Given the description of an element on the screen output the (x, y) to click on. 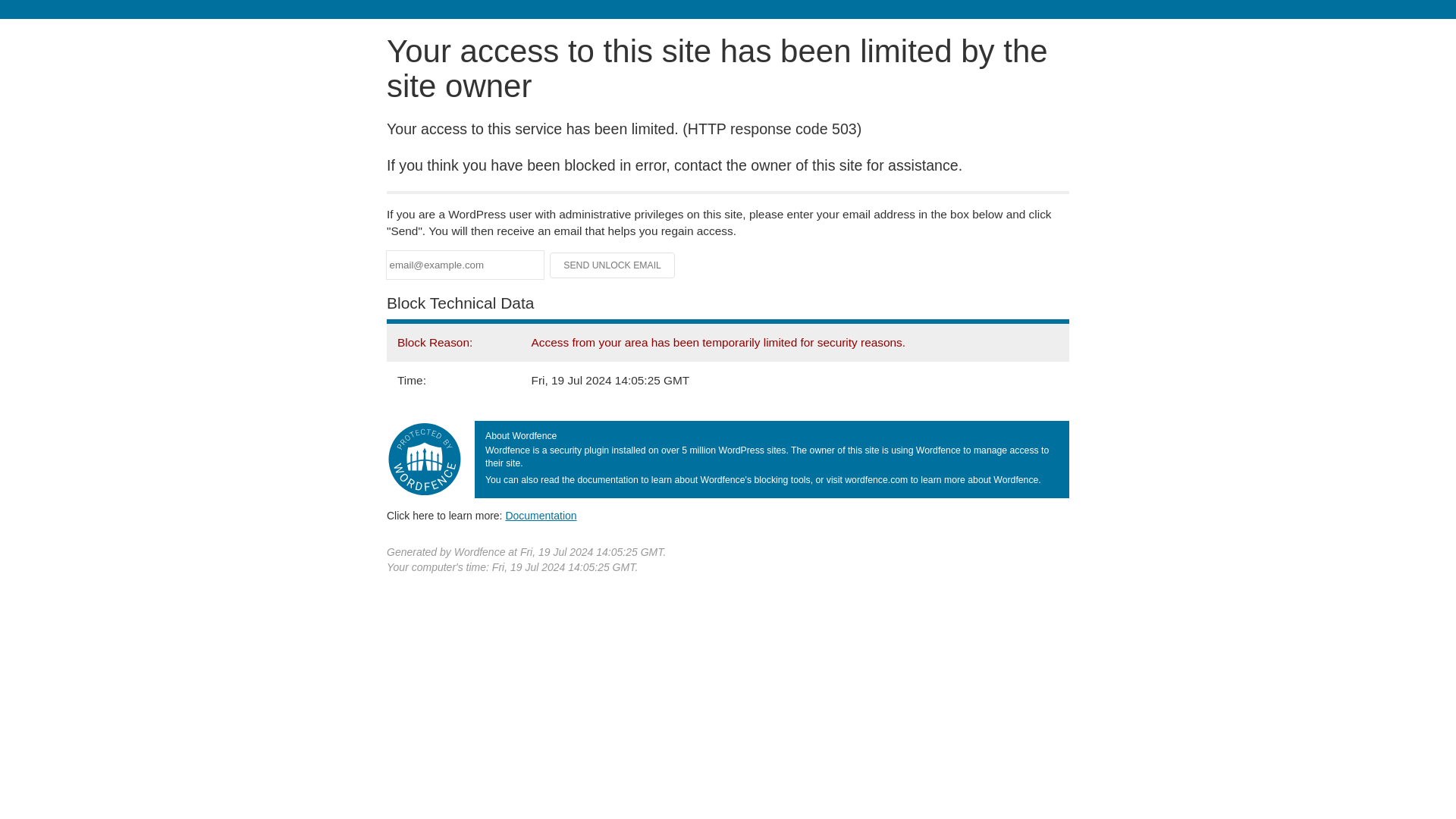
Documentation (540, 515)
Send Unlock Email (612, 265)
Send Unlock Email (612, 265)
